Given the description of an element on the screen output the (x, y) to click on. 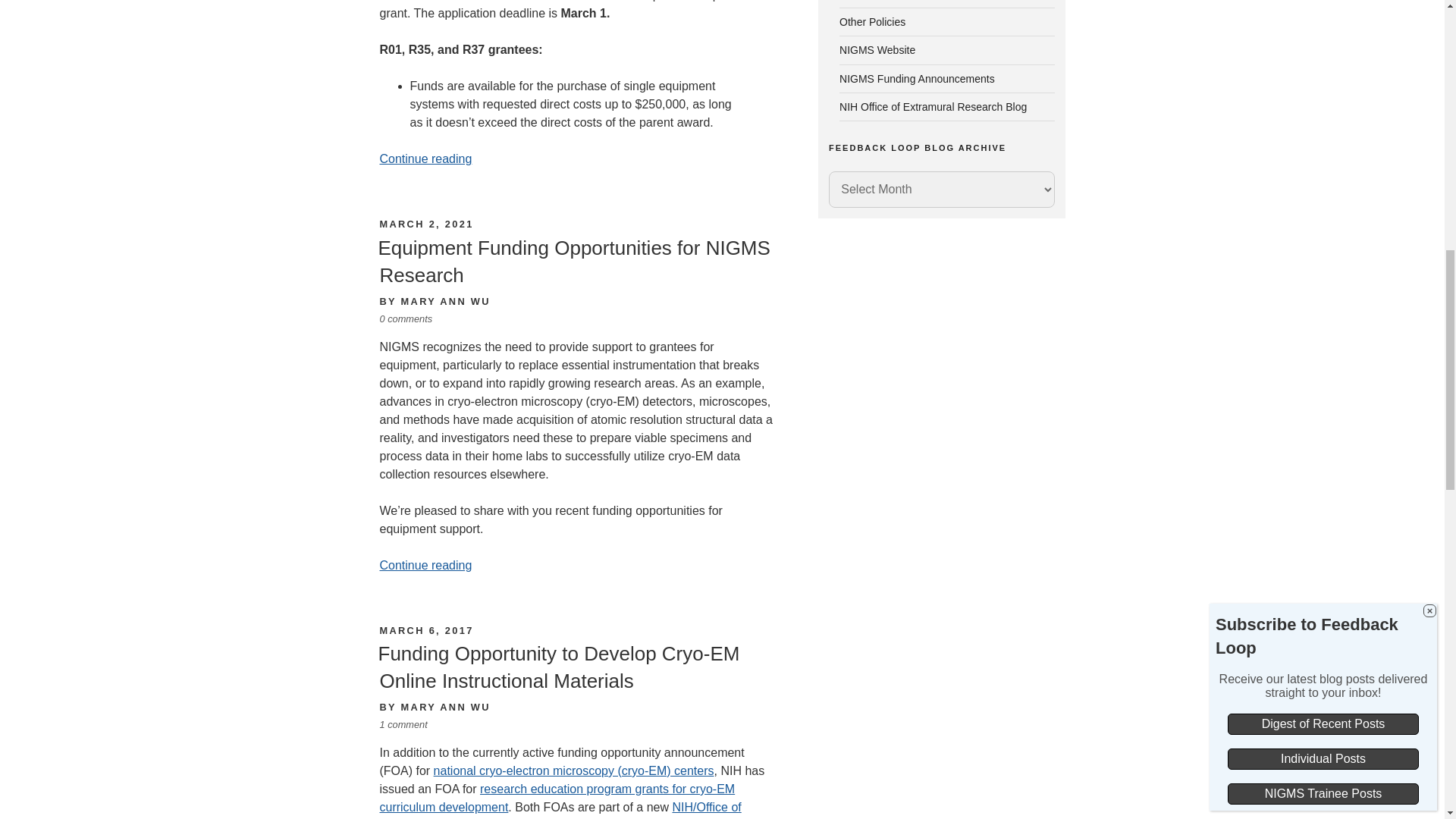
MARCH 2, 2021 (425, 224)
Posts by Mary Ann Wu (445, 301)
MARCH 6, 2017 (425, 630)
Equipment Funding Opportunities for NIGMS Research (573, 261)
Posts by Mary Ann Wu (445, 706)
Other Policies (872, 21)
MARY ANN WU (445, 706)
MARY ANN WU (445, 301)
